Given the description of an element on the screen output the (x, y) to click on. 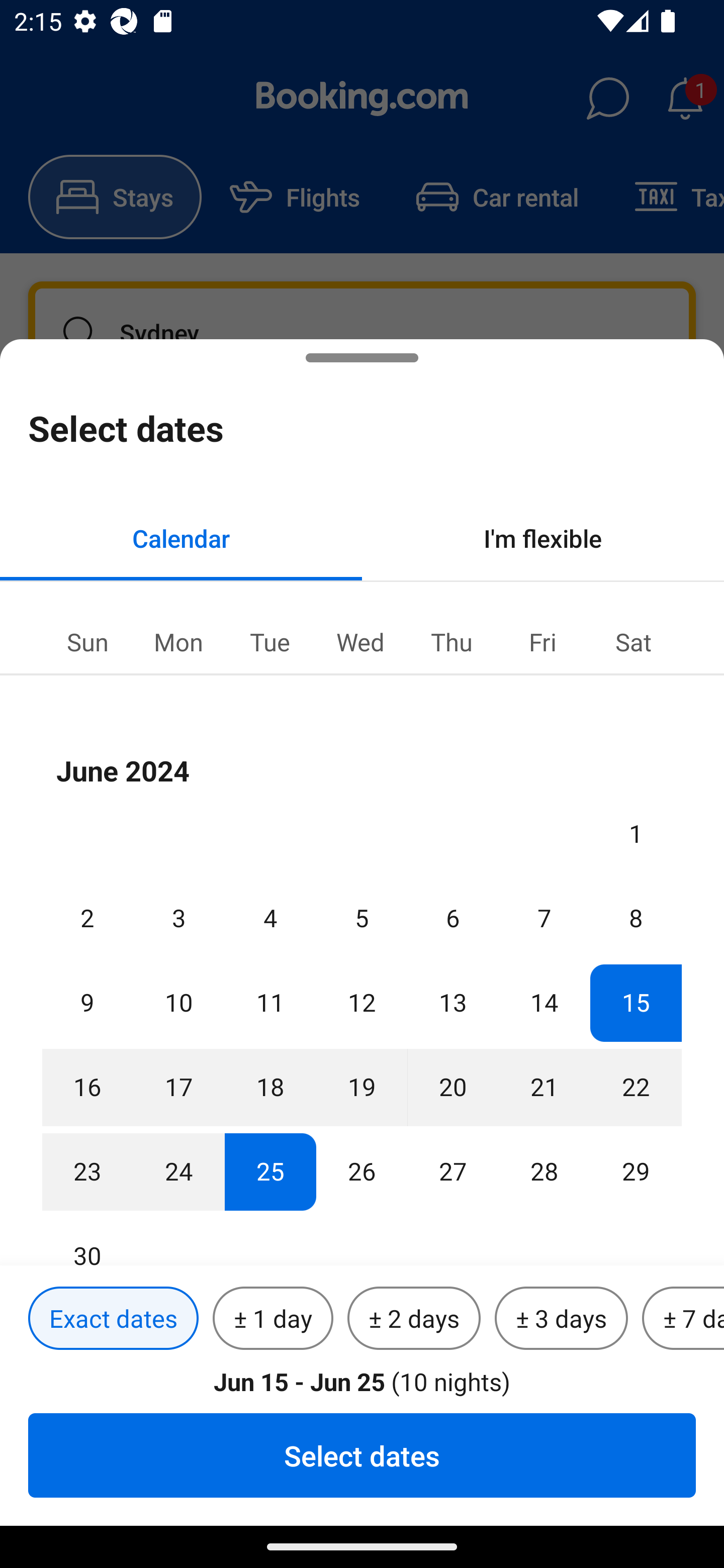
I'm flexible (543, 537)
Exact dates (113, 1318)
± 1 day (272, 1318)
± 2 days (413, 1318)
± 3 days (560, 1318)
± 7 days (683, 1318)
Select dates (361, 1454)
